Given the description of an element on the screen output the (x, y) to click on. 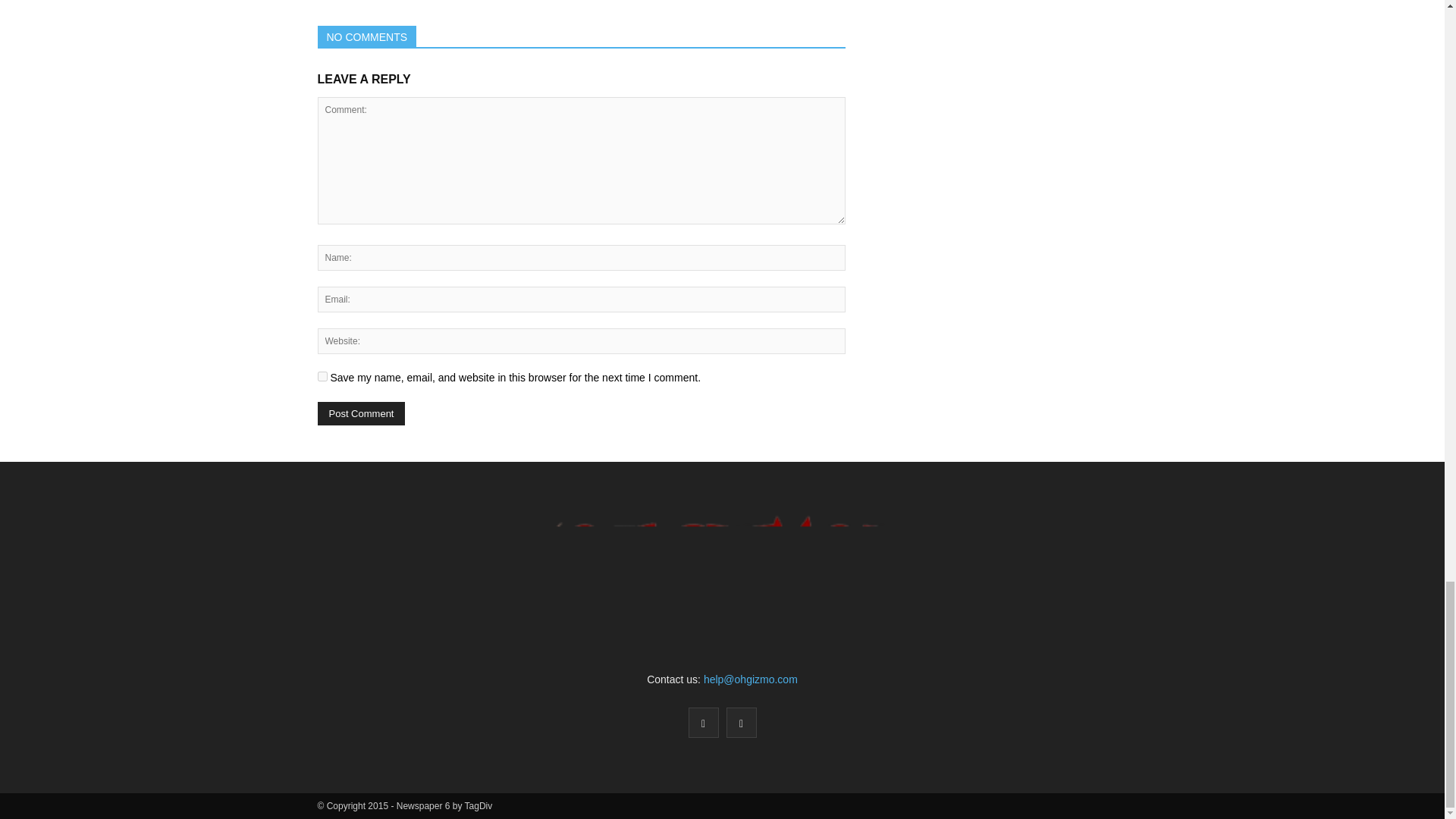
Post Comment (360, 413)
yes (321, 376)
